Given the description of an element on the screen output the (x, y) to click on. 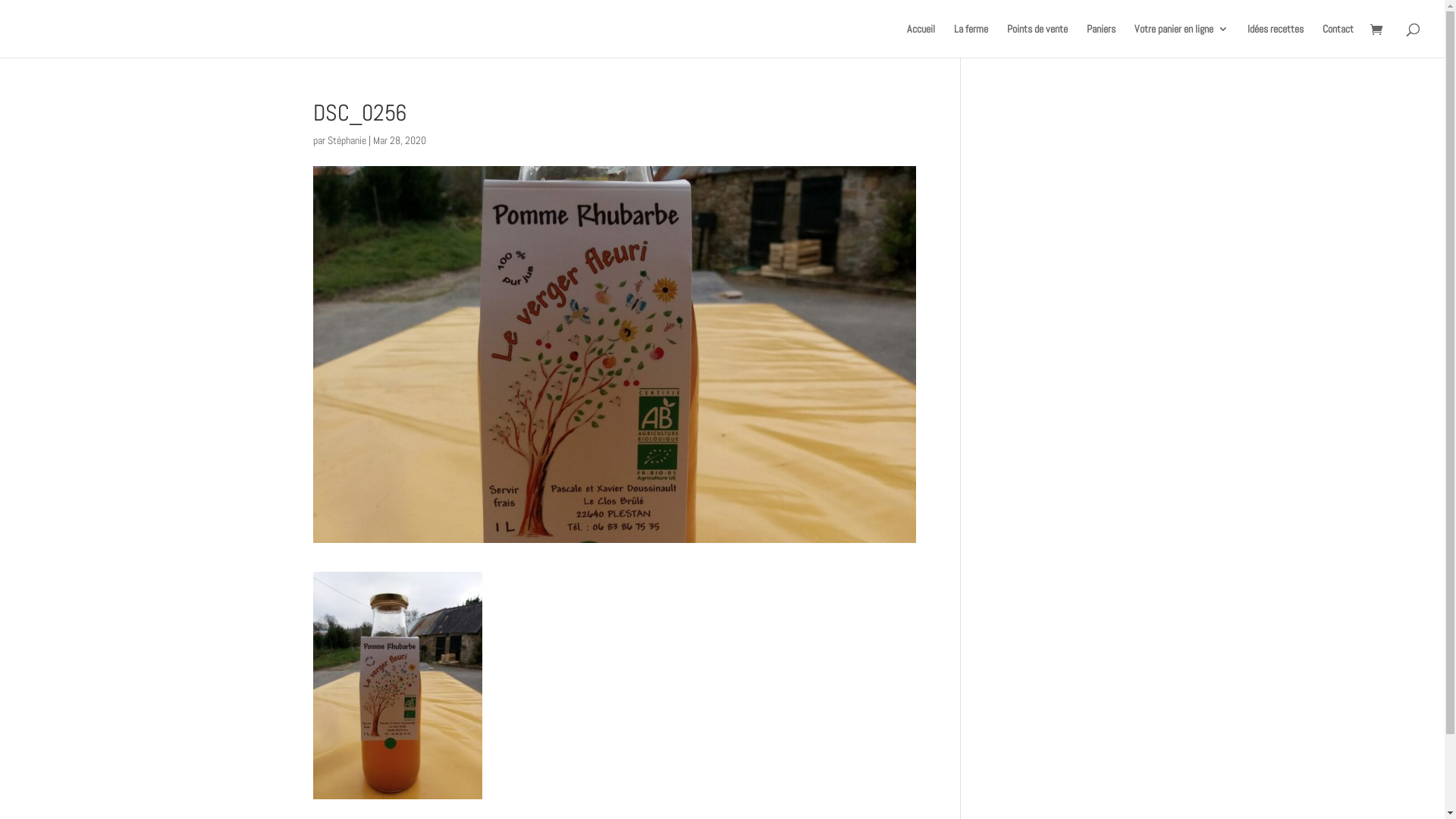
Accueil Element type: text (920, 40)
La ferme Element type: text (970, 40)
Contact Element type: text (1337, 40)
Votre panier en ligne Element type: text (1181, 40)
Paniers Element type: text (1100, 40)
Points de vente Element type: text (1037, 40)
